Given the description of an element on the screen output the (x, y) to click on. 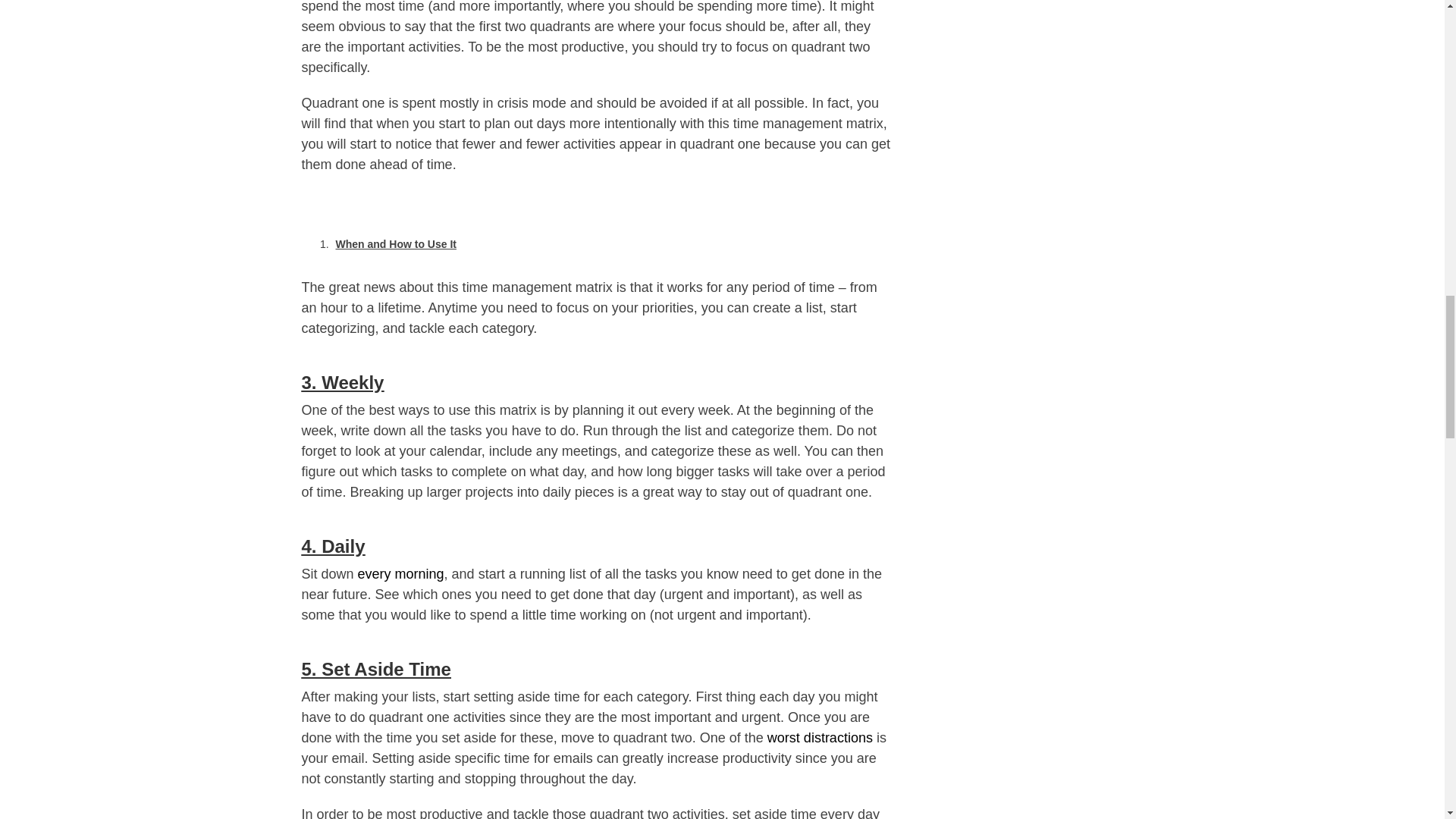
worst distractions (819, 737)
every morning (401, 573)
